Given the description of an element on the screen output the (x, y) to click on. 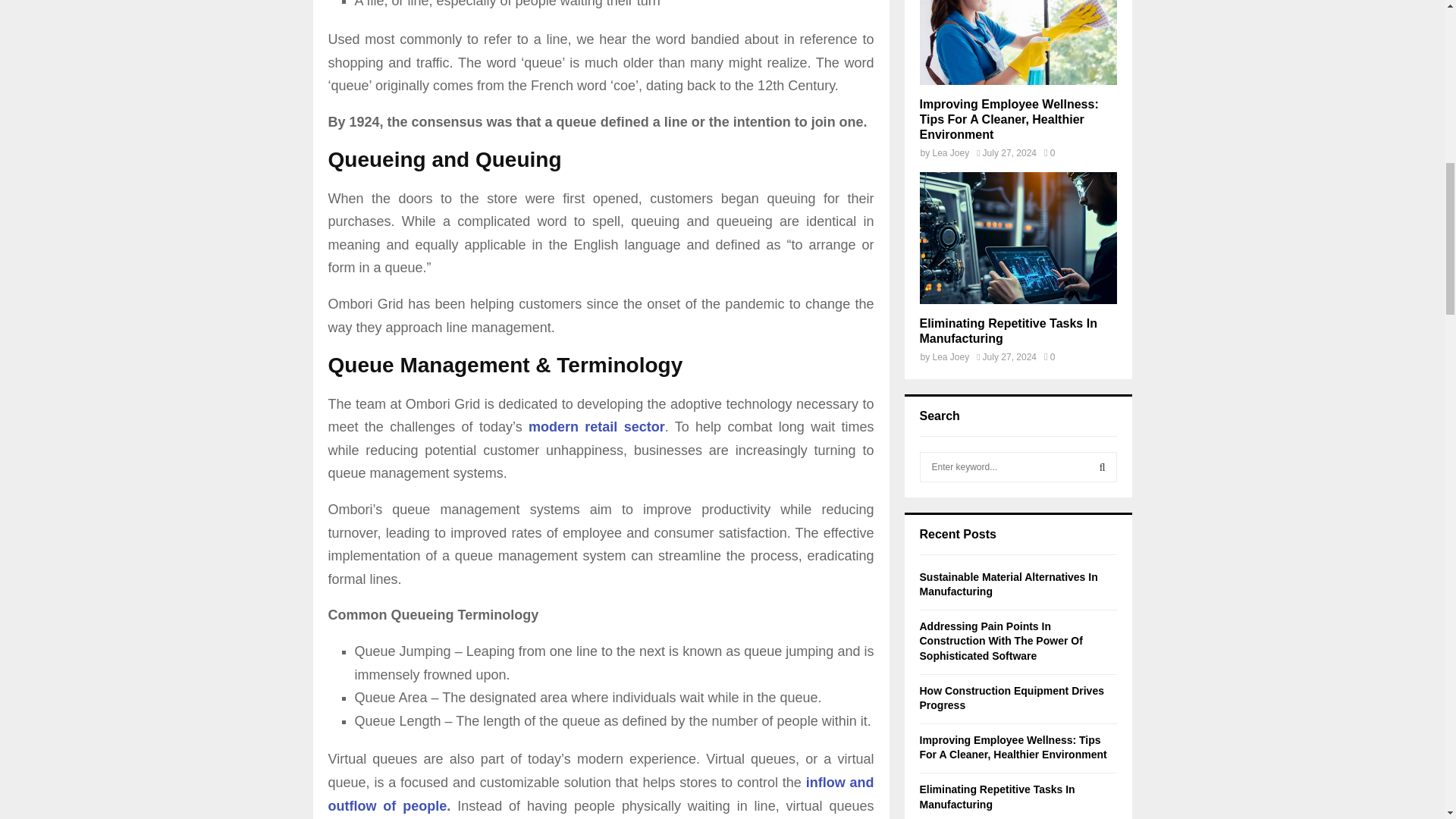
modern retail sector (596, 426)
